Given the description of an element on the screen output the (x, y) to click on. 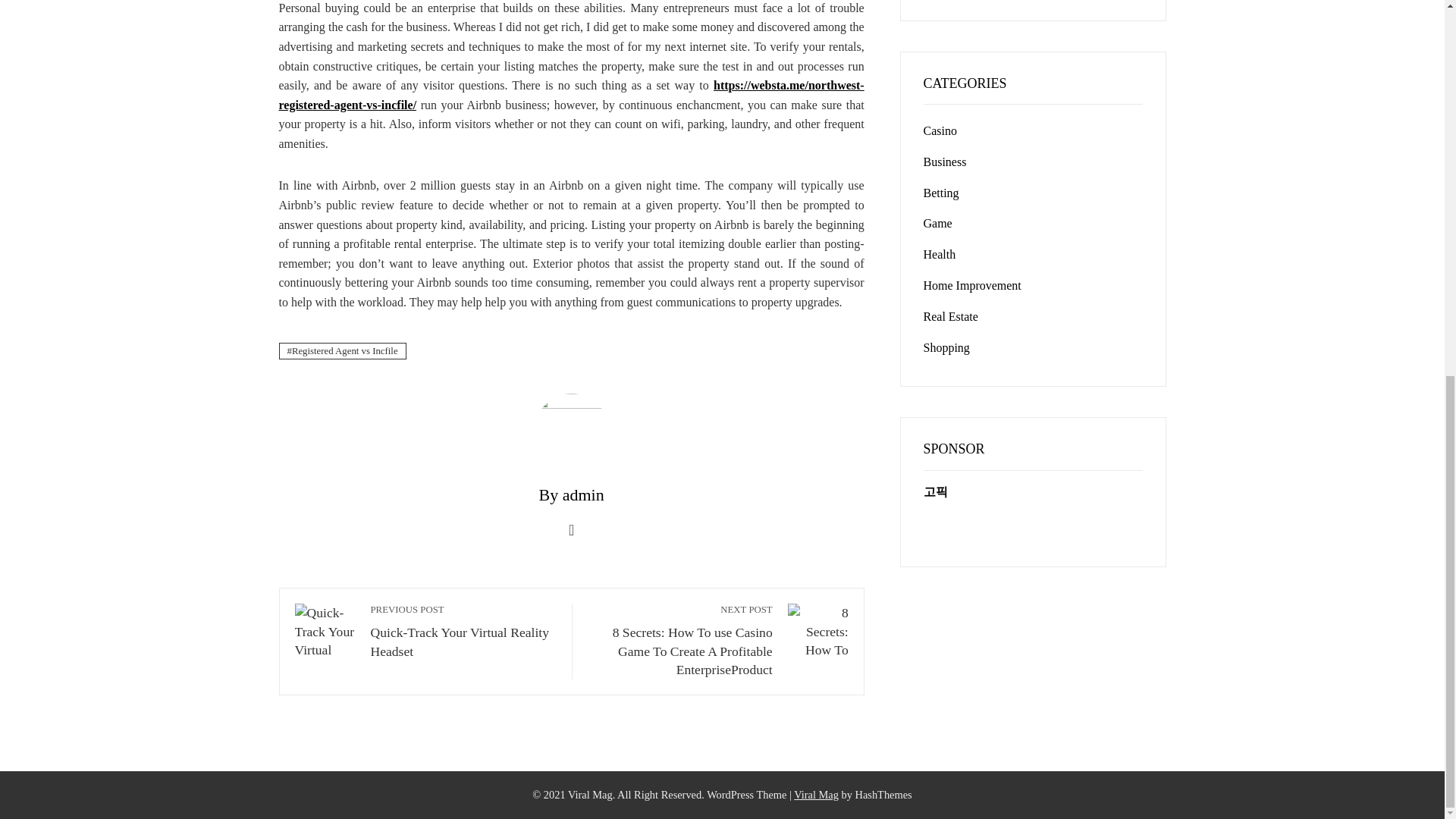
Registered Agent vs Incfile (342, 351)
Download Viral News (462, 631)
